Given the description of an element on the screen output the (x, y) to click on. 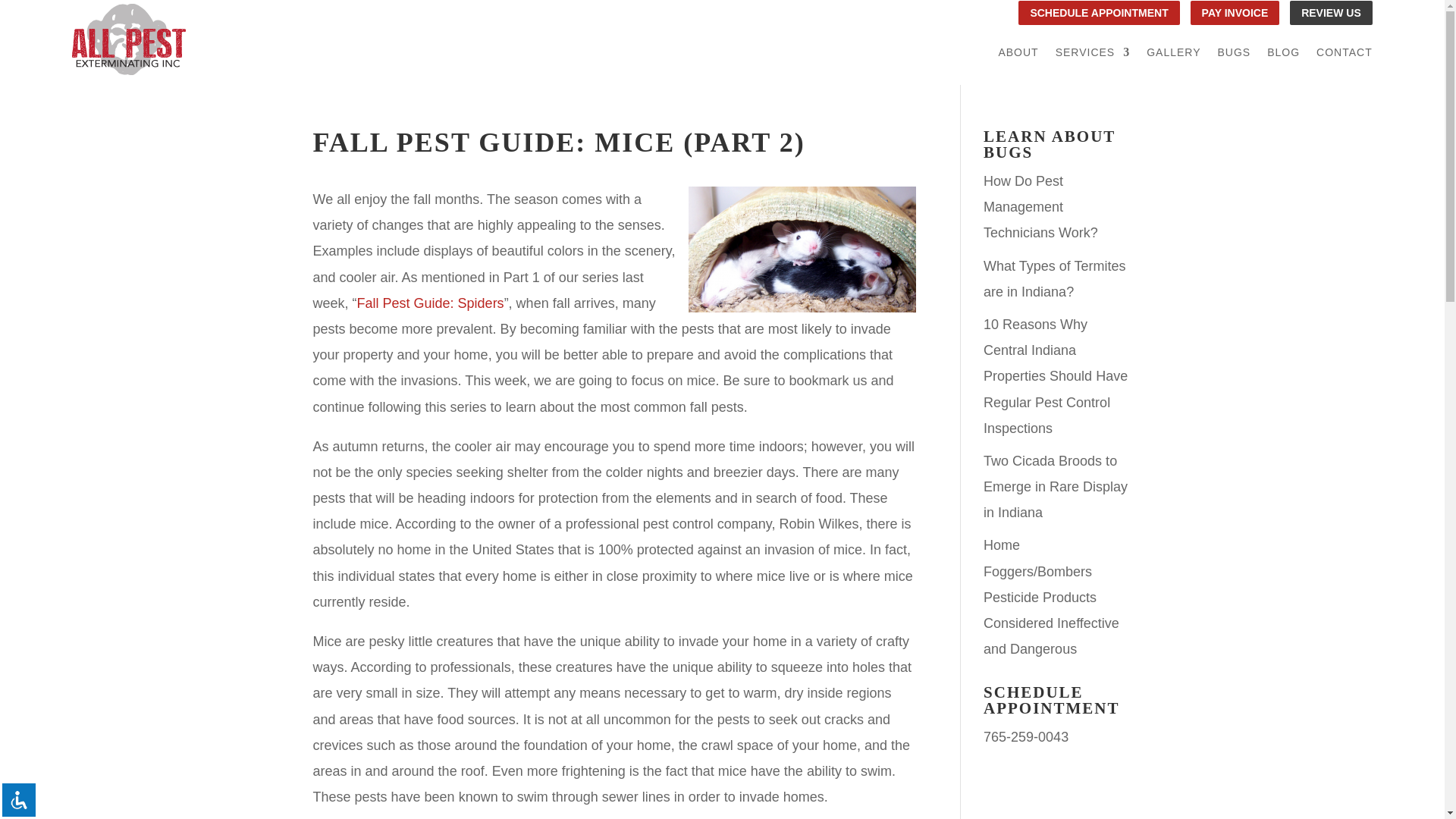
Fall Pest Guide: Spiders (429, 303)
Two Cicada Broods to Emerge in Rare Display in Indiana (1055, 486)
What Types of Termites are in Indiana? (1054, 278)
How Do Pest Management Technicians Work? (1040, 206)
SCHEDULE APPOINTMENT (1098, 12)
BLOG (1283, 54)
PAY INVOICE (1235, 12)
CONTACT (1344, 54)
ABOUT (1017, 54)
REVIEW US (1331, 12)
SERVICES (1093, 54)
GALLERY (1173, 54)
765-259-0043 (1026, 736)
BUGS (1233, 54)
